Given the description of an element on the screen output the (x, y) to click on. 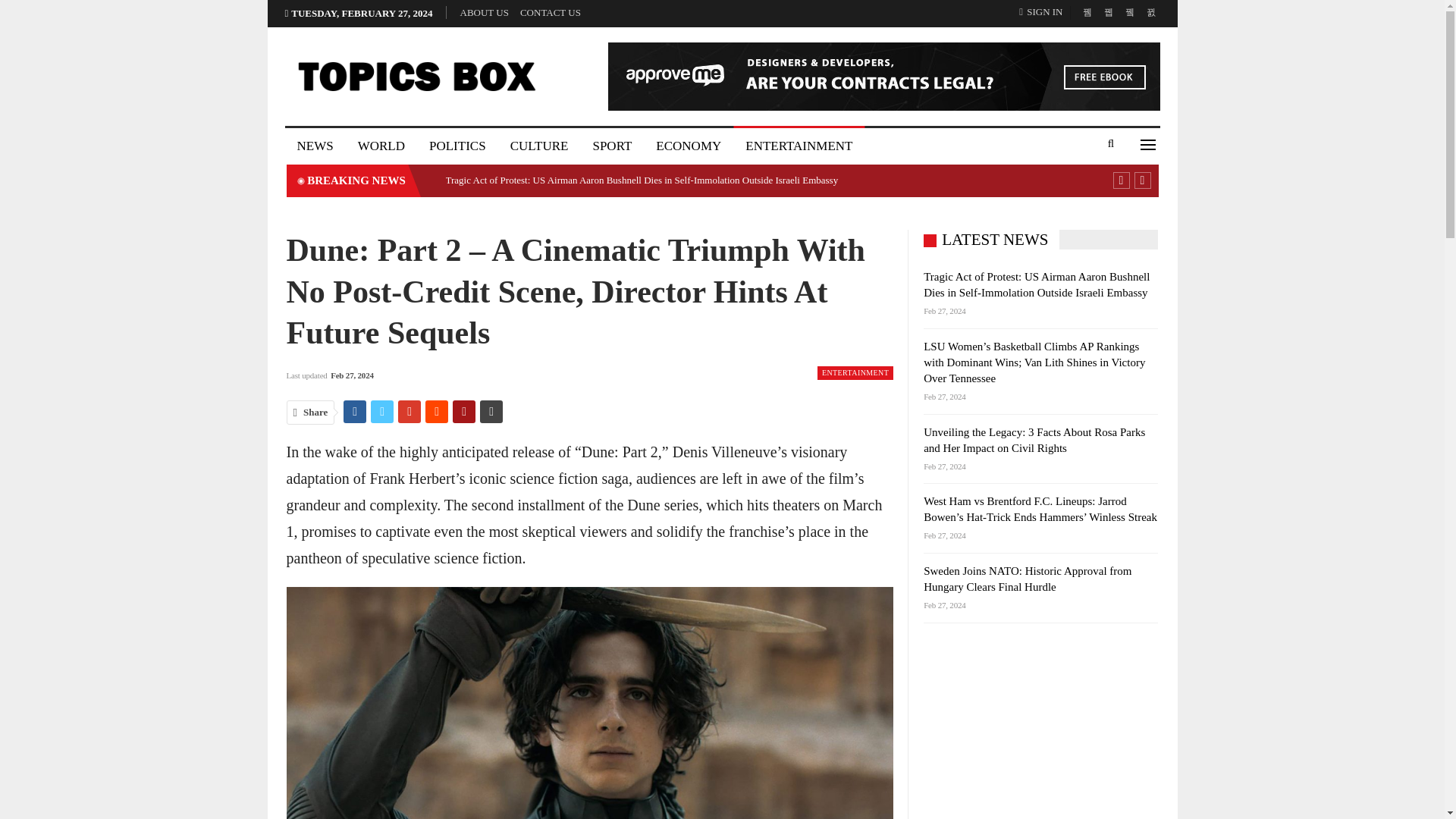
SIGN IN (1043, 12)
ABOUT US (484, 12)
WORLD (381, 145)
CULTURE (538, 145)
CONTACT US (549, 12)
SPORT (611, 145)
NEWS (315, 145)
ECONOMY (688, 145)
POLITICS (456, 145)
ENTERTAINMENT (798, 145)
